Given the description of an element on the screen output the (x, y) to click on. 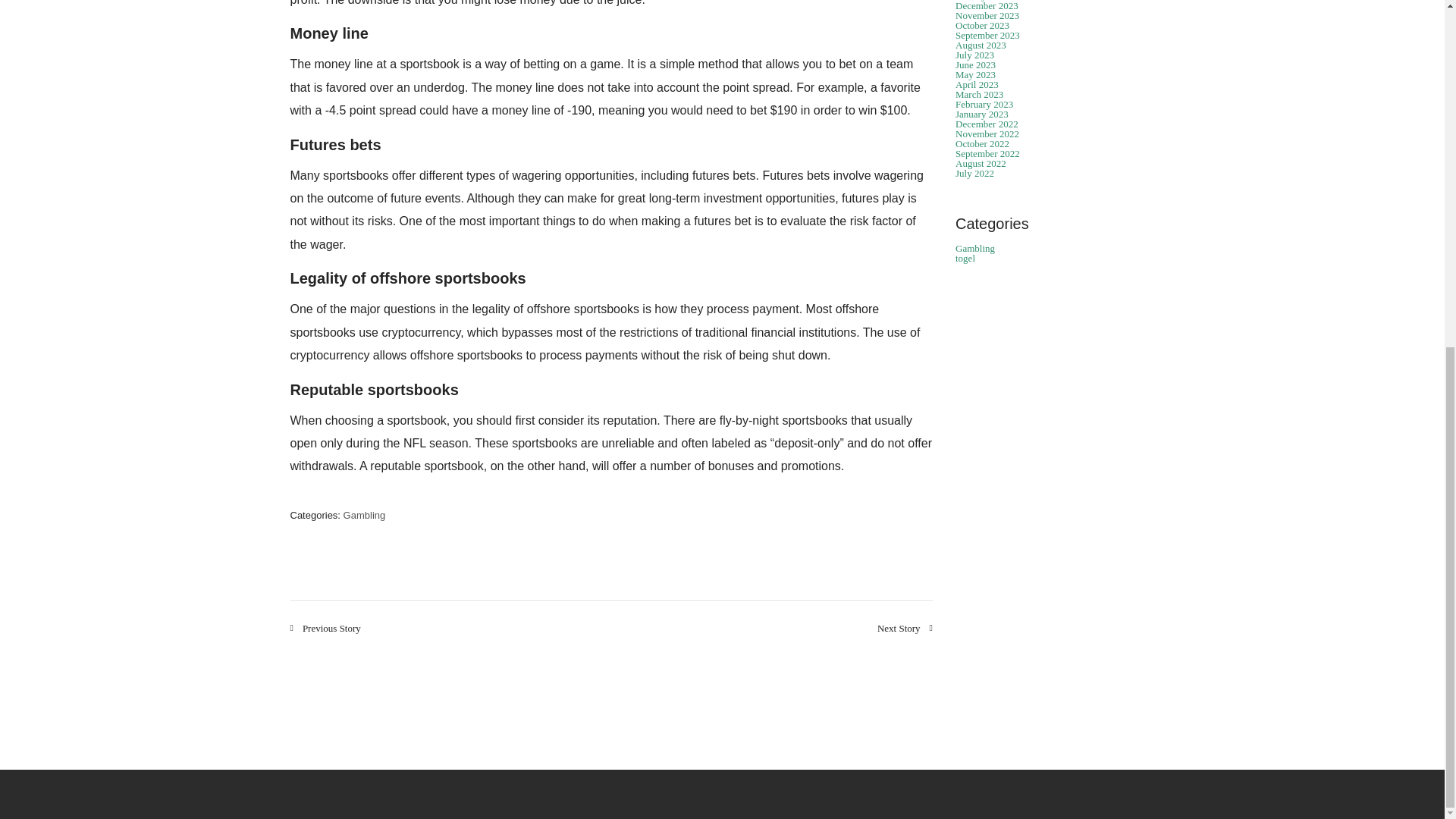
December 2022 (986, 123)
May 2023 (975, 74)
February 2023 (984, 103)
August 2023 (980, 44)
April 2023 (976, 84)
November 2022 (987, 133)
March 2023 (979, 93)
June 2023 (975, 64)
Previous Story (324, 628)
November 2023 (987, 15)
Gambling (364, 514)
July 2023 (974, 54)
September 2022 (987, 153)
December 2023 (986, 5)
January 2023 (982, 113)
